Given the description of an element on the screen output the (x, y) to click on. 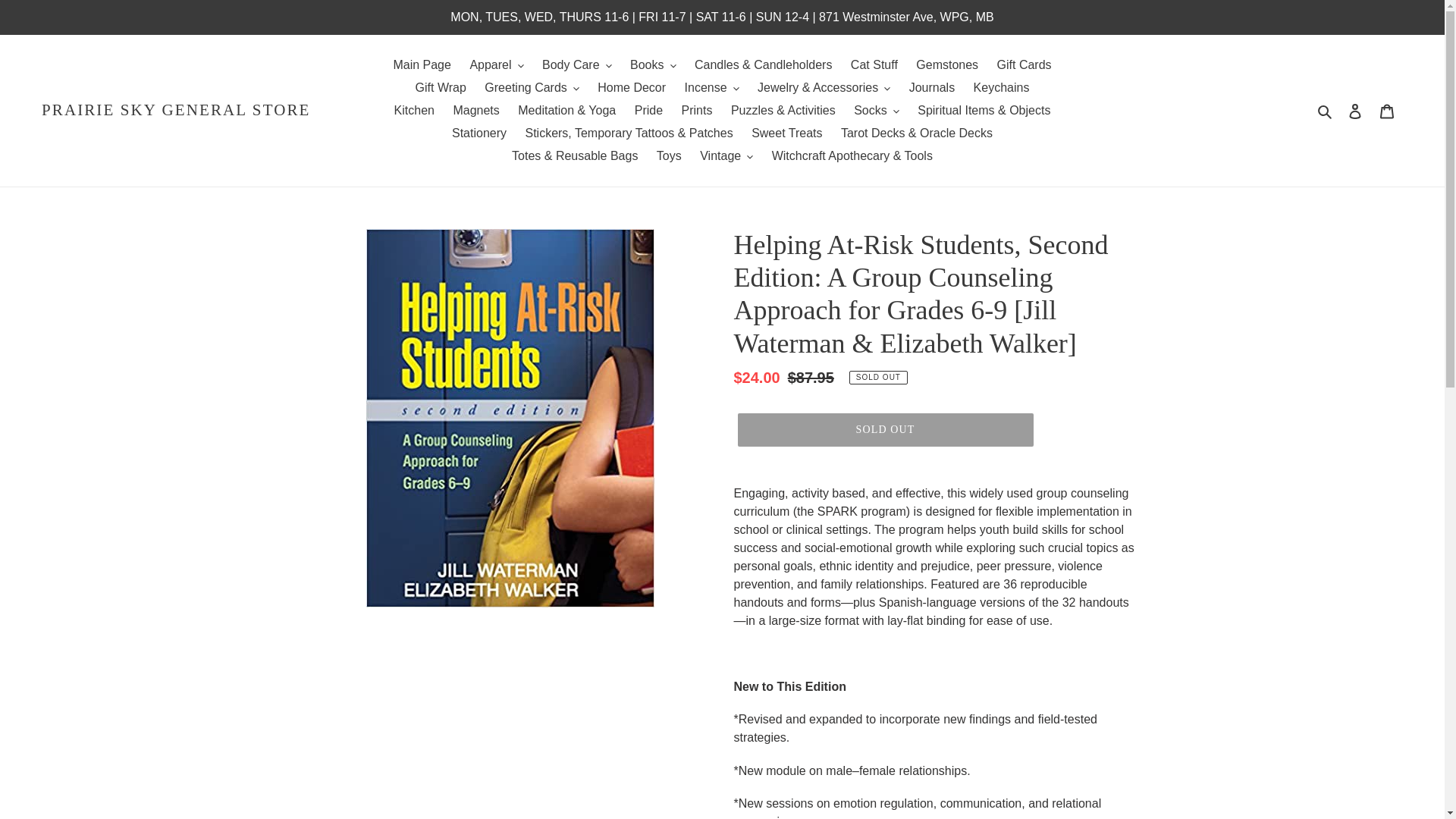
Body Care (577, 65)
Main Page (421, 65)
Books (652, 65)
Apparel (496, 65)
PRAIRIE SKY GENERAL STORE (176, 109)
